Given the description of an element on the screen output the (x, y) to click on. 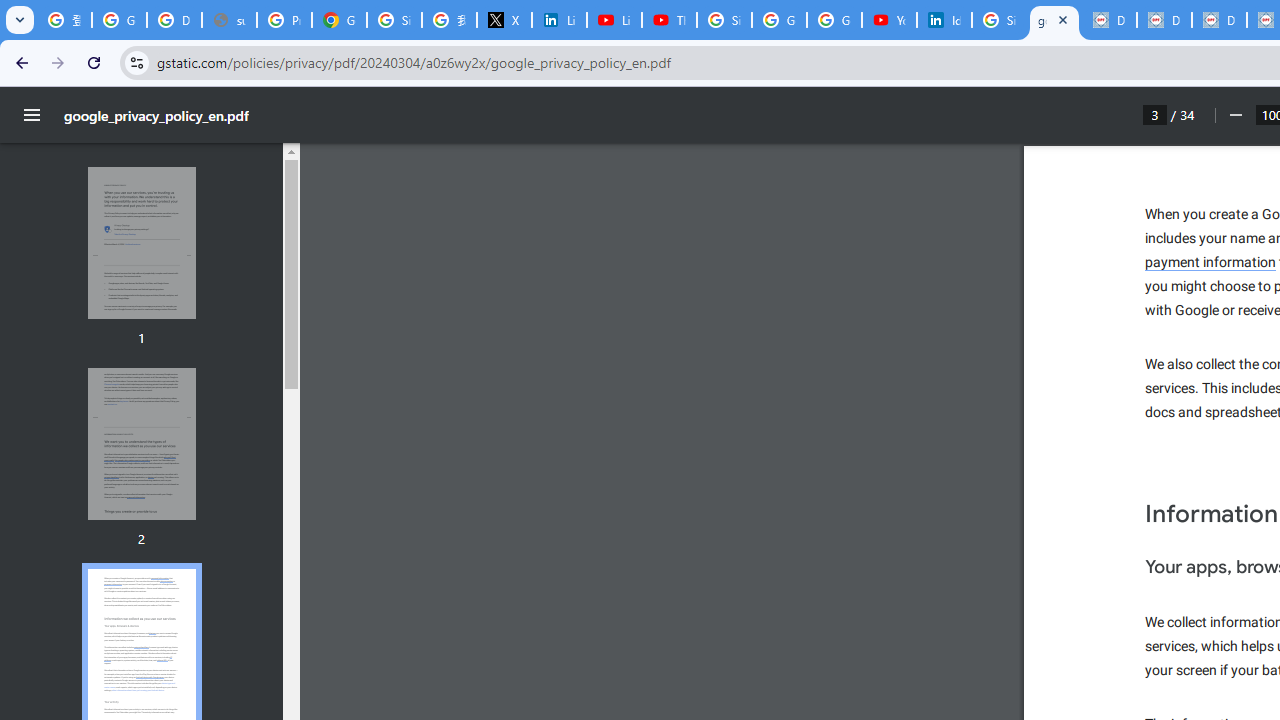
google_privacy_policy_en.pdf (1053, 20)
Privacy Help Center - Policies Help (284, 20)
Zoom out (1234, 115)
Identity verification via Persona | LinkedIn Help (943, 20)
Thumbnail for page 2 (141, 444)
